Given the description of an element on the screen output the (x, y) to click on. 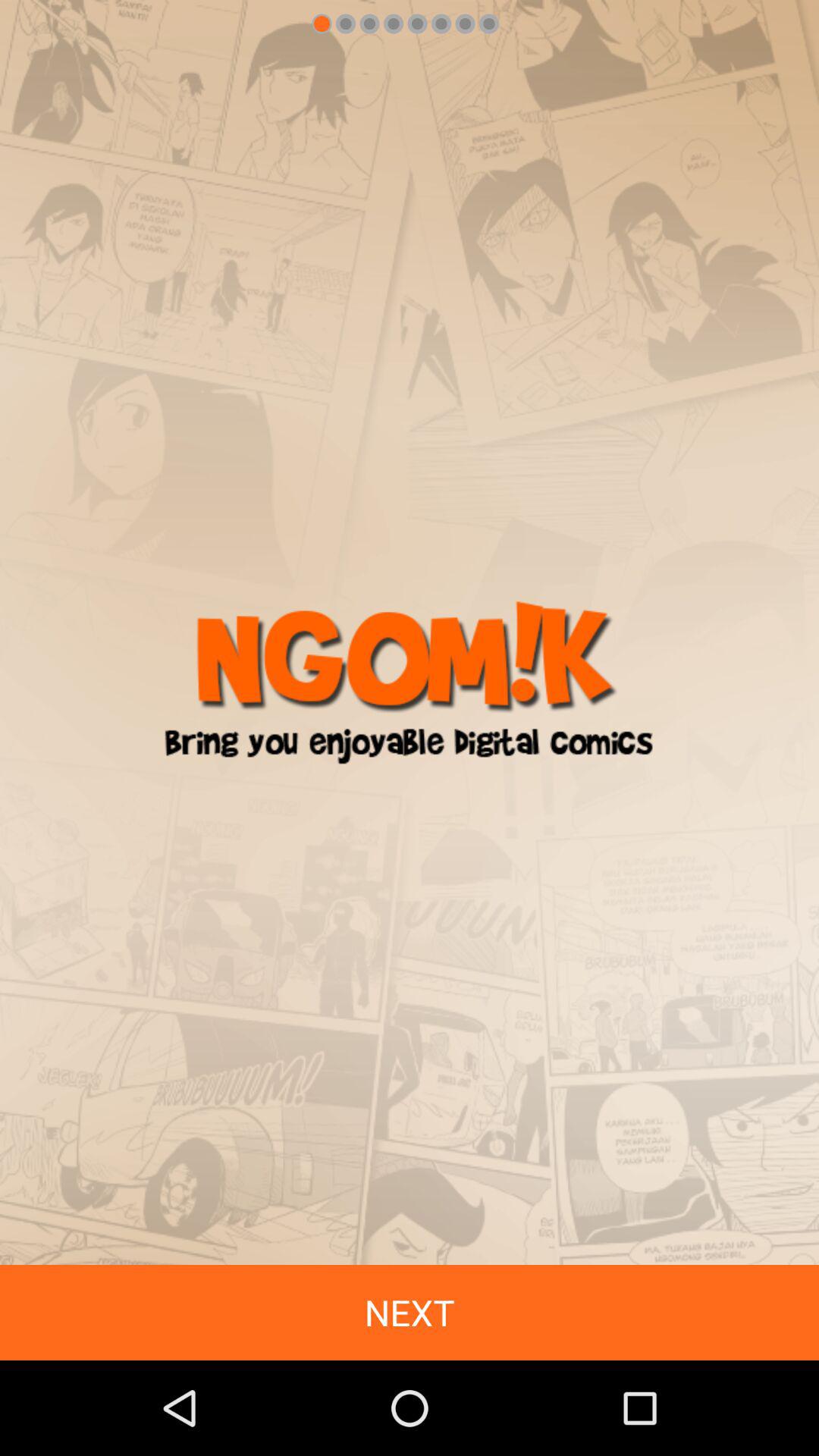
press the next item (409, 1312)
